Given the description of an element on the screen output the (x, y) to click on. 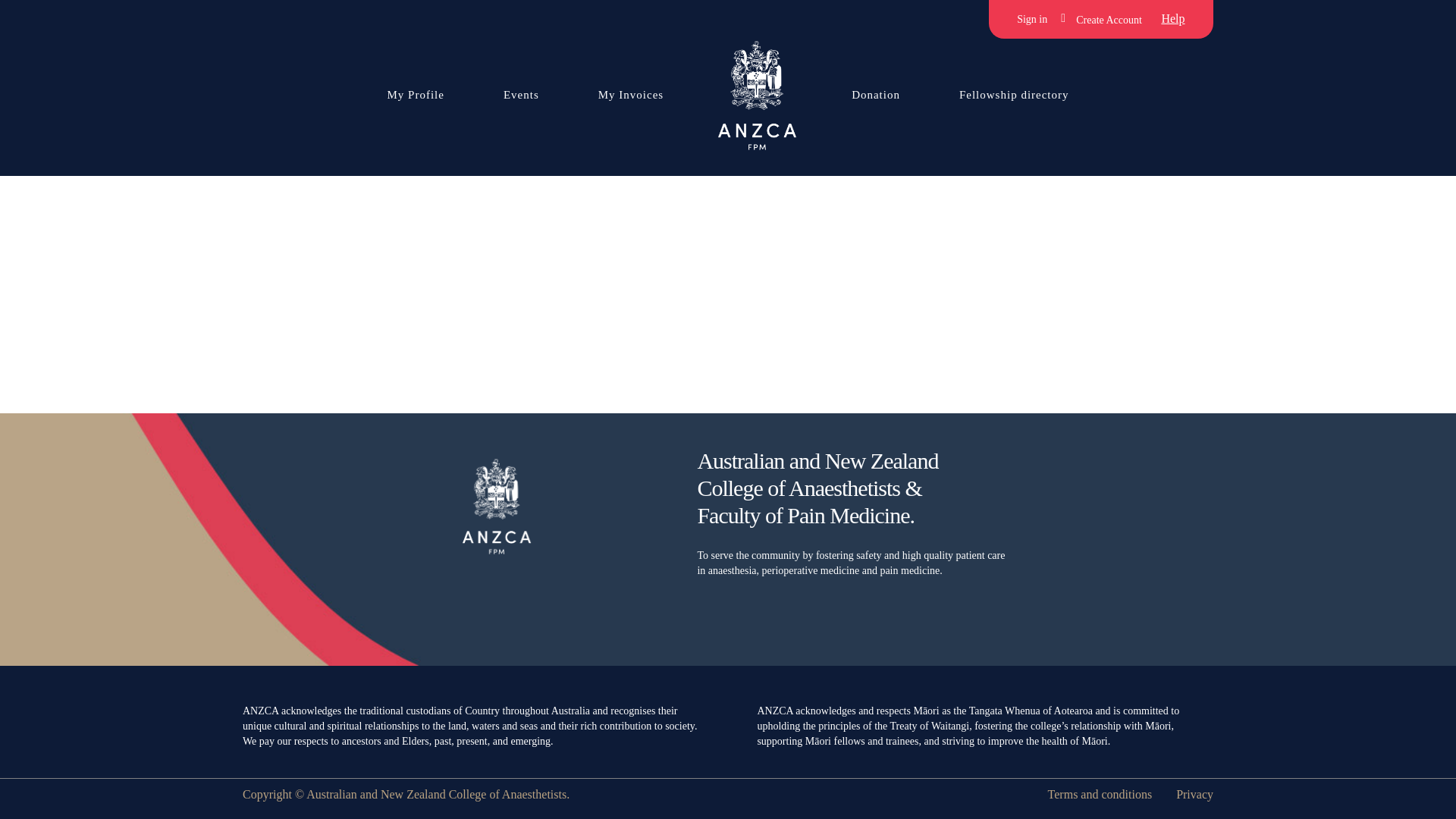
Donation (876, 93)
Sign in (1031, 18)
Create Account (1104, 18)
Home (757, 93)
Help (1173, 19)
Events (521, 93)
My Profile (414, 93)
Terms and conditions (1100, 794)
Fellowship directory (1014, 93)
My Invoices (631, 93)
Privacy (1194, 794)
